Given the description of an element on the screen output the (x, y) to click on. 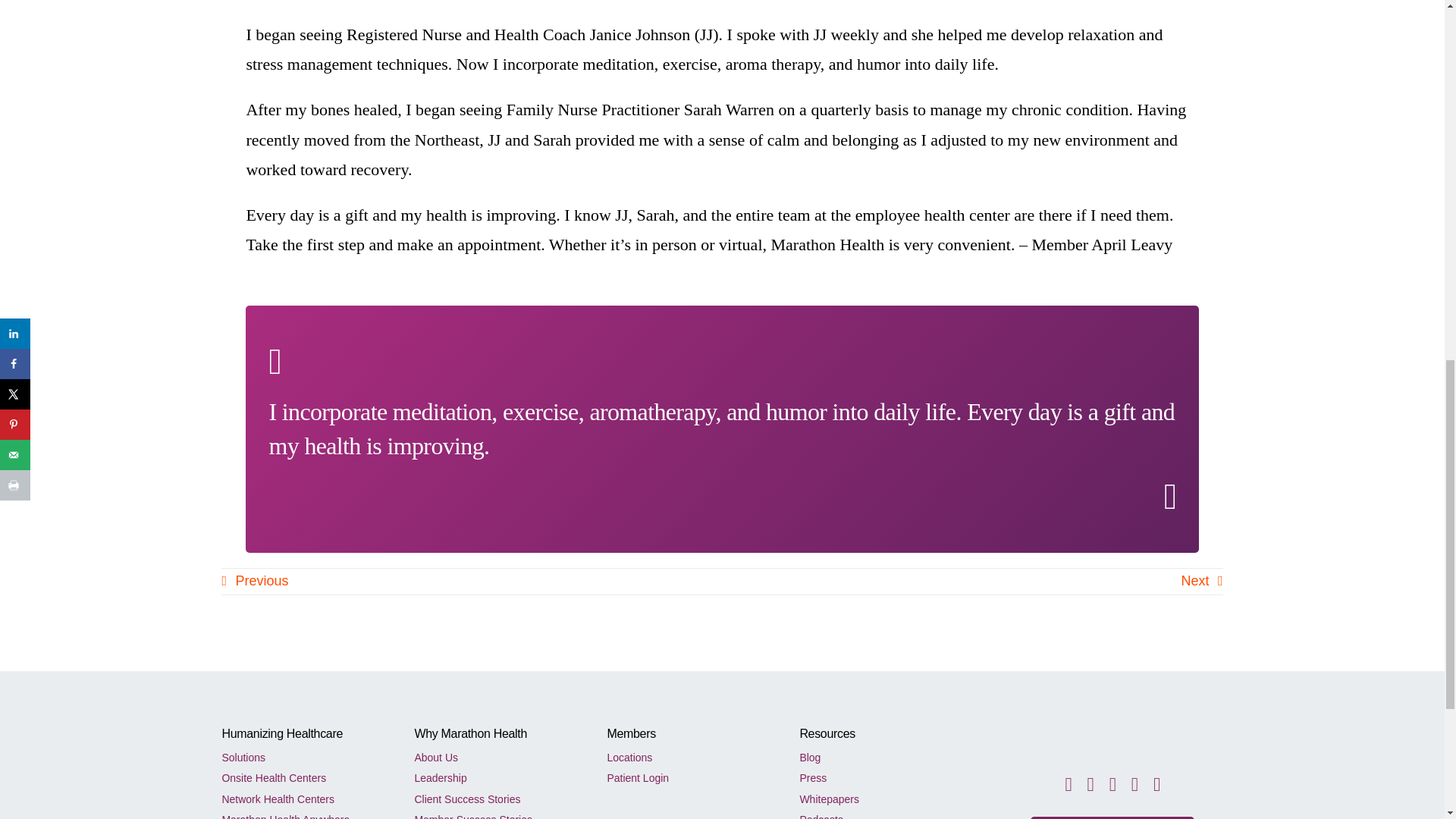
About Us (494, 755)
Leadership (494, 775)
Client Success Stories (494, 797)
Next (1201, 580)
Onsite Health Centers (302, 775)
Network Health Centers (302, 797)
Marathon Health Anywhere (302, 813)
Solutions (302, 755)
Previous (254, 580)
